Given the description of an element on the screen output the (x, y) to click on. 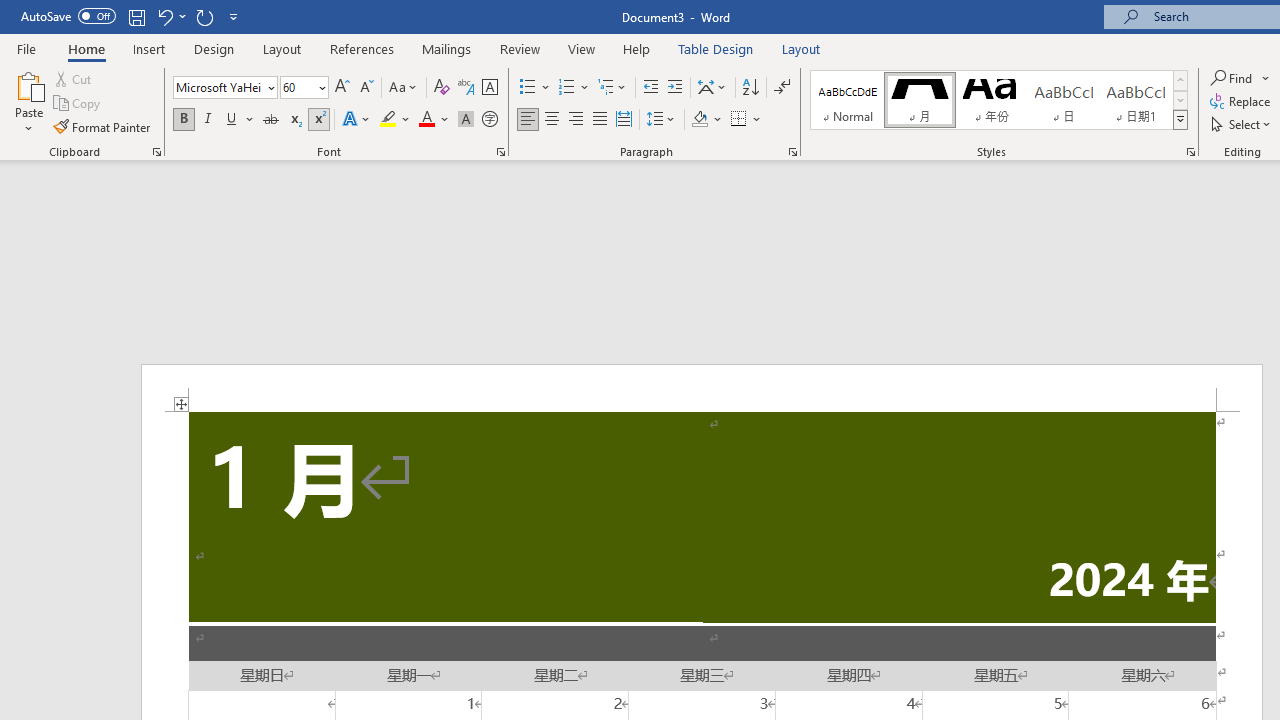
Design (214, 48)
Center (552, 119)
Customize Quick Access Toolbar (234, 15)
Strikethrough (270, 119)
Undo Superscript (170, 15)
Font Color RGB(255, 0, 0) (426, 119)
Quick Access Toolbar (131, 16)
Font... (500, 151)
AutomationID: QuickStylesGallery (999, 99)
Layout (801, 48)
Review (520, 48)
Grow Font (342, 87)
Class: NetUIImage (1181, 119)
Repeat Superscript (204, 15)
